Given the description of an element on the screen output the (x, y) to click on. 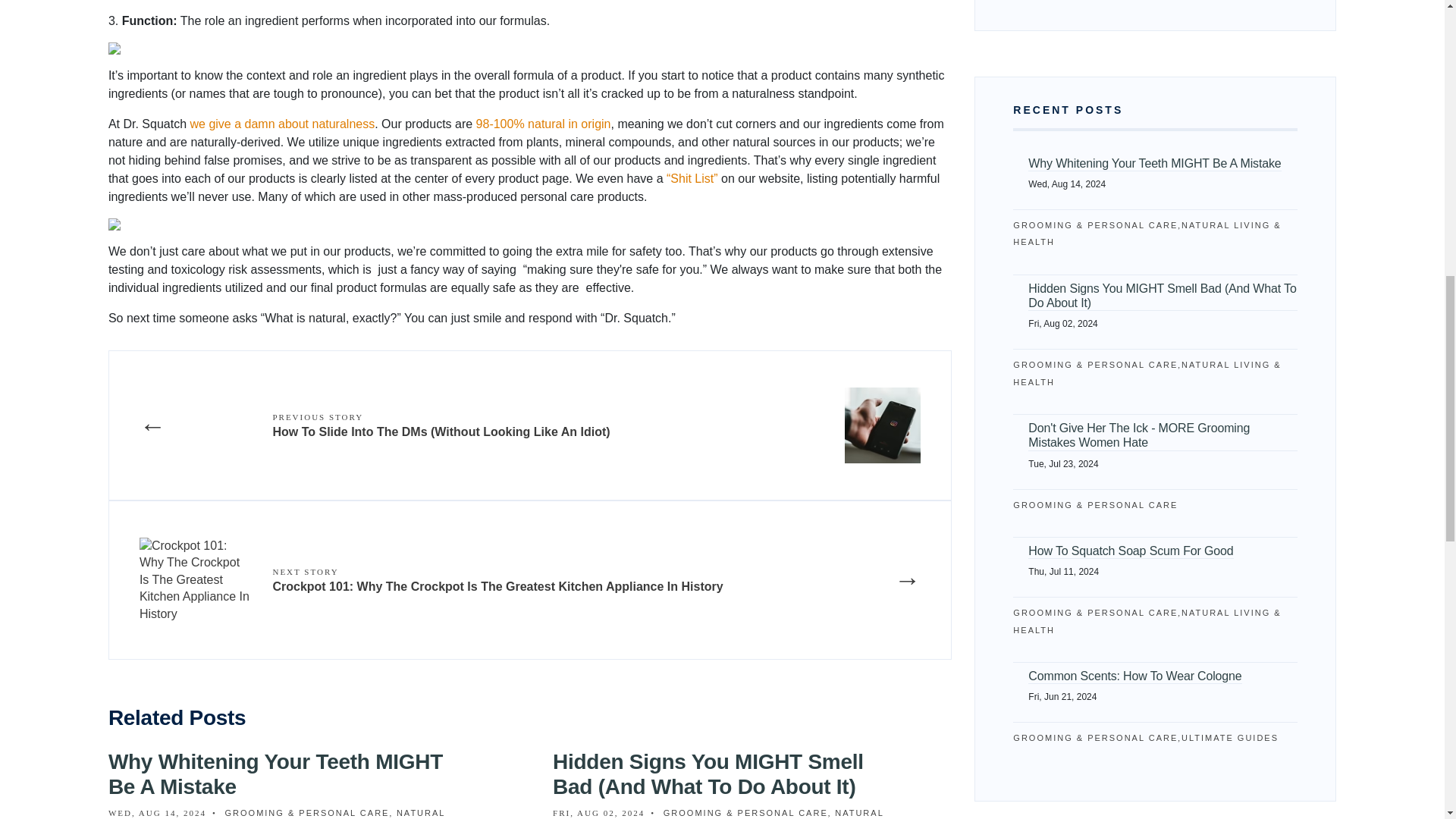
Why Whitening Your Teeth MIGHT Be A Mistake (274, 774)
we give a damn about naturalness (281, 123)
